Given the description of an element on the screen output the (x, y) to click on. 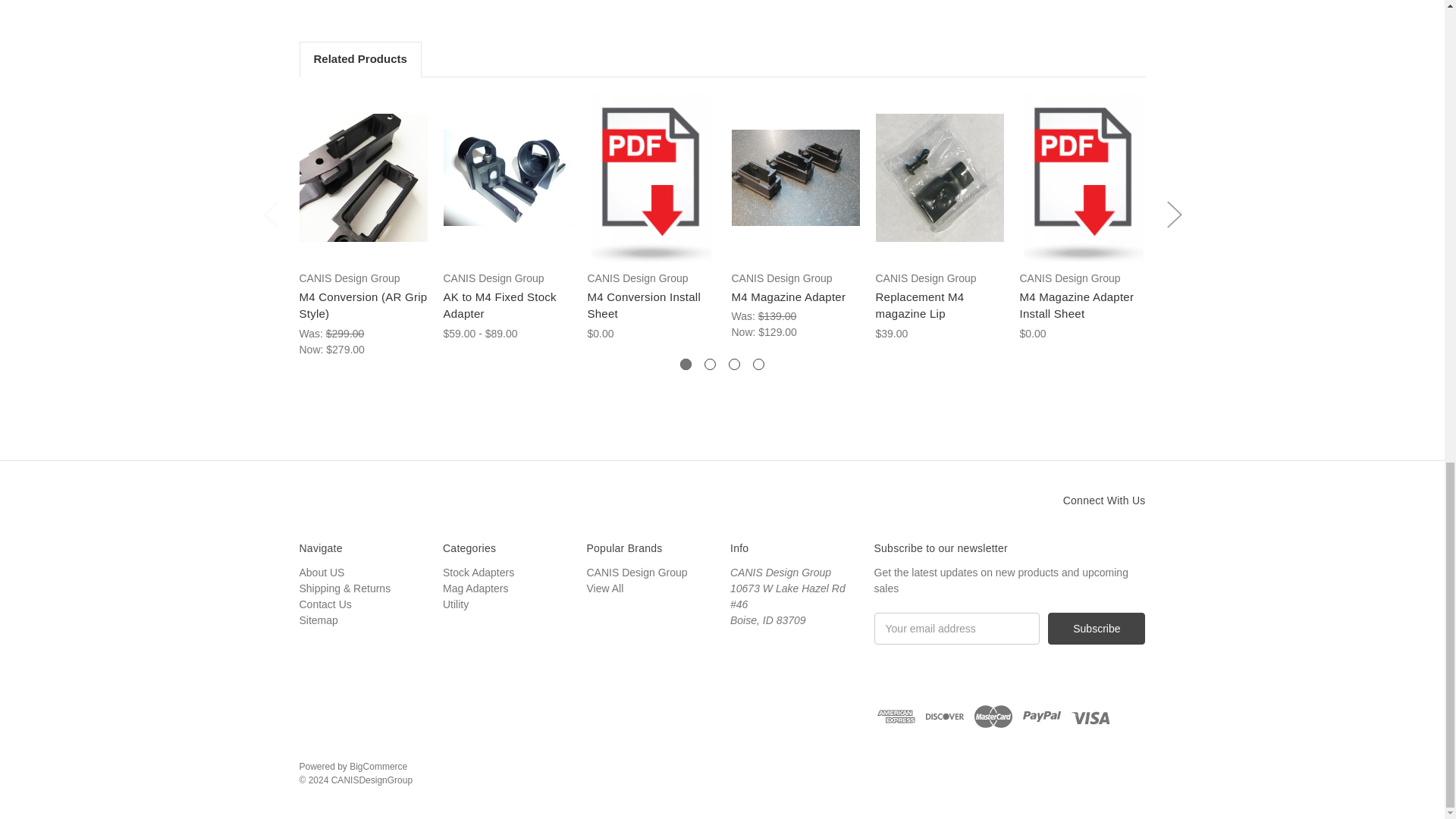
M4 Magazine Adapter (794, 177)
Related Products (359, 59)
Subscribe (1096, 628)
AK to M4 Fixed Stock Adapter (506, 177)
Replacement M4 magazine Lip (939, 177)
